Given the description of an element on the screen output the (x, y) to click on. 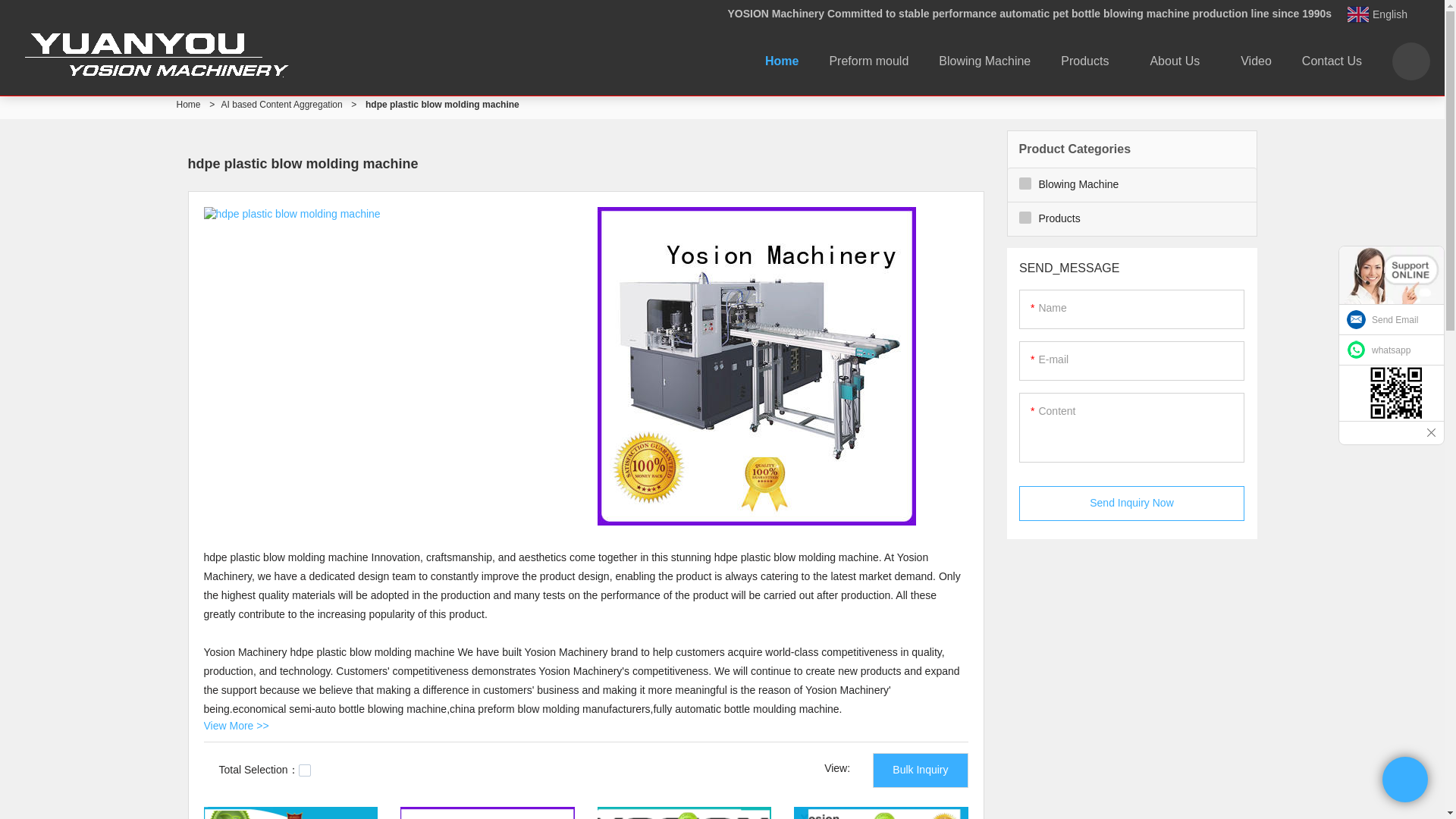
AI based Content Aggregation (281, 104)
Blowing Machine (984, 61)
About Us (1179, 61)
Preform mould (868, 61)
Home (188, 104)
Video (1256, 61)
Products (1089, 61)
Contact Us (1332, 61)
on (304, 770)
Home (781, 61)
